Given the description of an element on the screen output the (x, y) to click on. 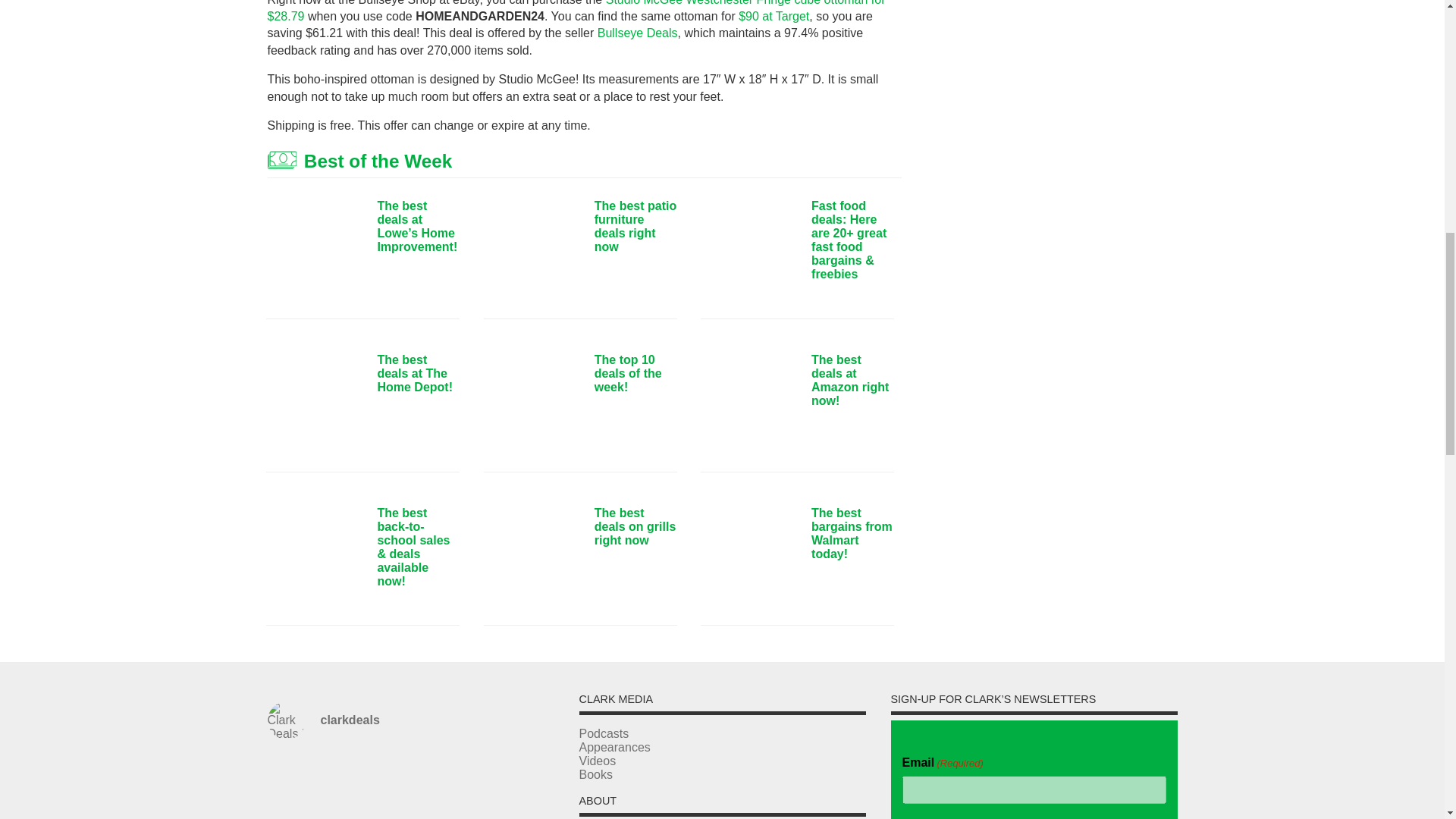
The best deals at Amazon right now! (749, 405)
The best deals at The Home Depot! (315, 405)
The top 10 deals of the week! (532, 405)
The best deals on grills right now (532, 558)
The best patio furniture deals right now (532, 252)
The best bargains from Walmart today! (749, 558)
